Given the description of an element on the screen output the (x, y) to click on. 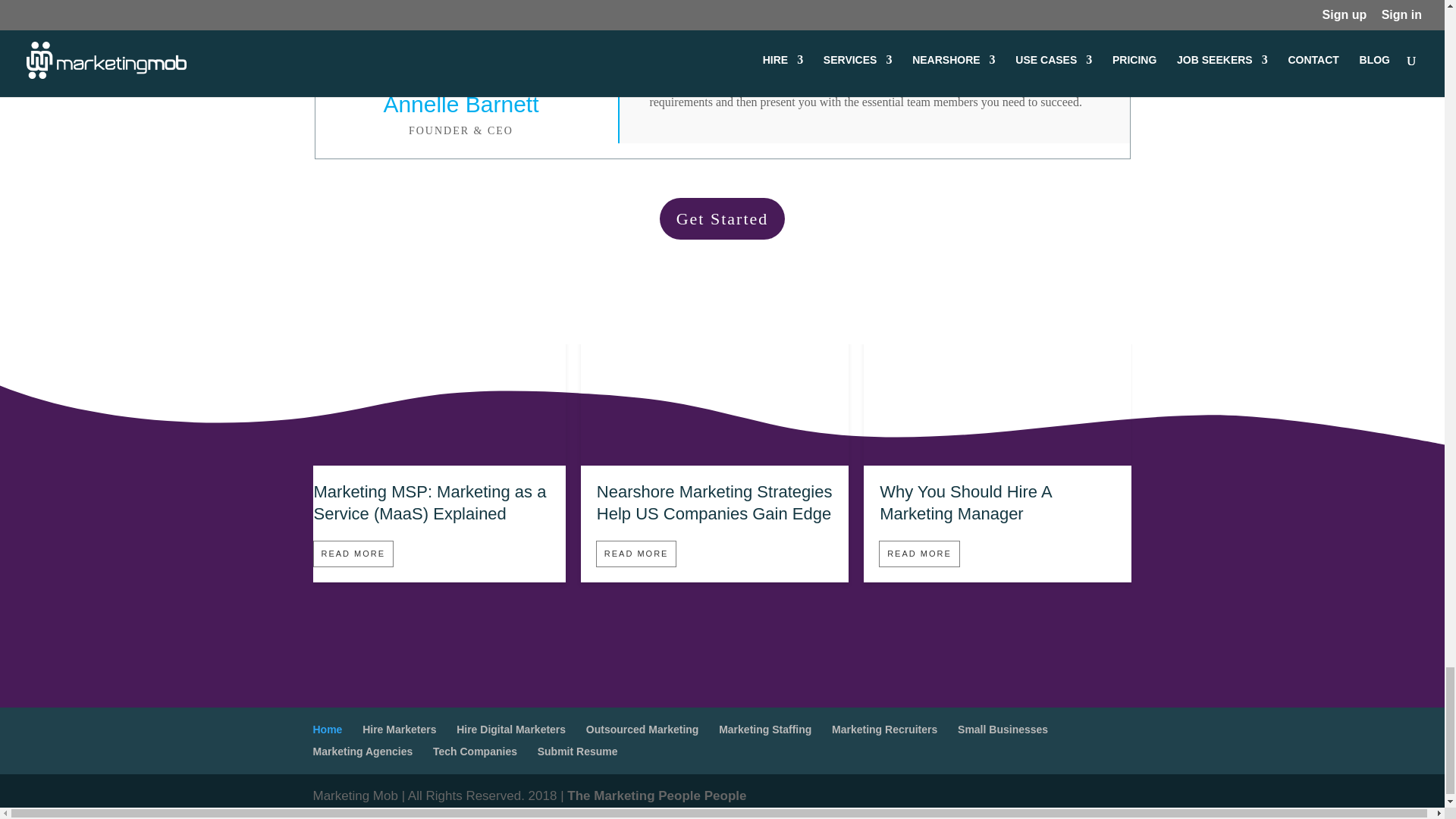
READ MORE (353, 553)
READ MORE (919, 553)
Get Started (722, 218)
READ MORE (636, 553)
Nearshore Marketing Strategies Help US Companies Gain Edge (714, 459)
Nearshore Marketing Strategies Help US Companies Gain Edge (714, 502)
Why You Should Hire A Marketing Manager (965, 502)
Why You Should Hire A Marketing Manager (997, 459)
